Given the description of an element on the screen output the (x, y) to click on. 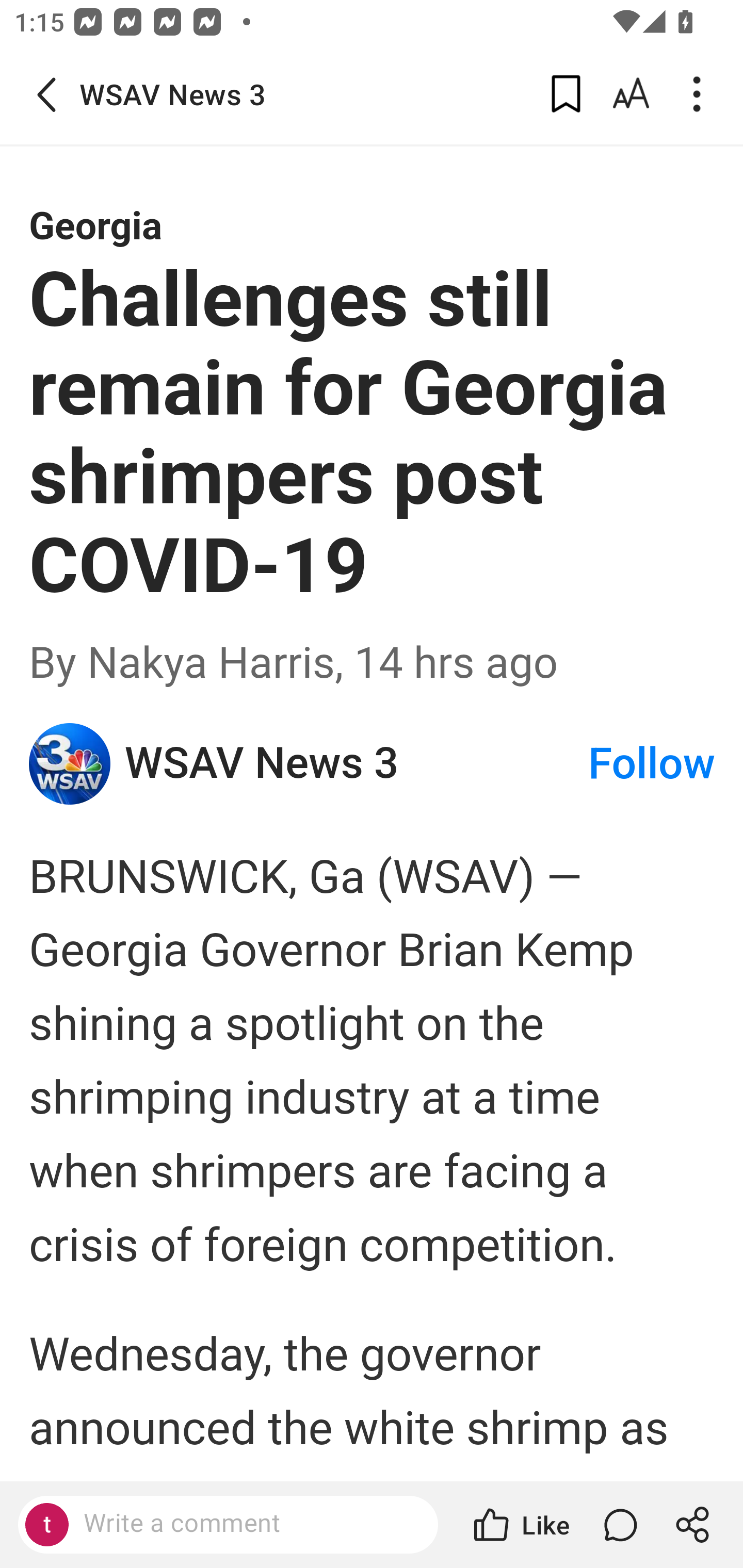
WSAV (70, 763)
WSAV News 3 (355, 763)
Follow (651, 763)
Like (519, 1524)
Write a comment (227, 1524)
Write a comment (245, 1523)
